Given the description of an element on the screen output the (x, y) to click on. 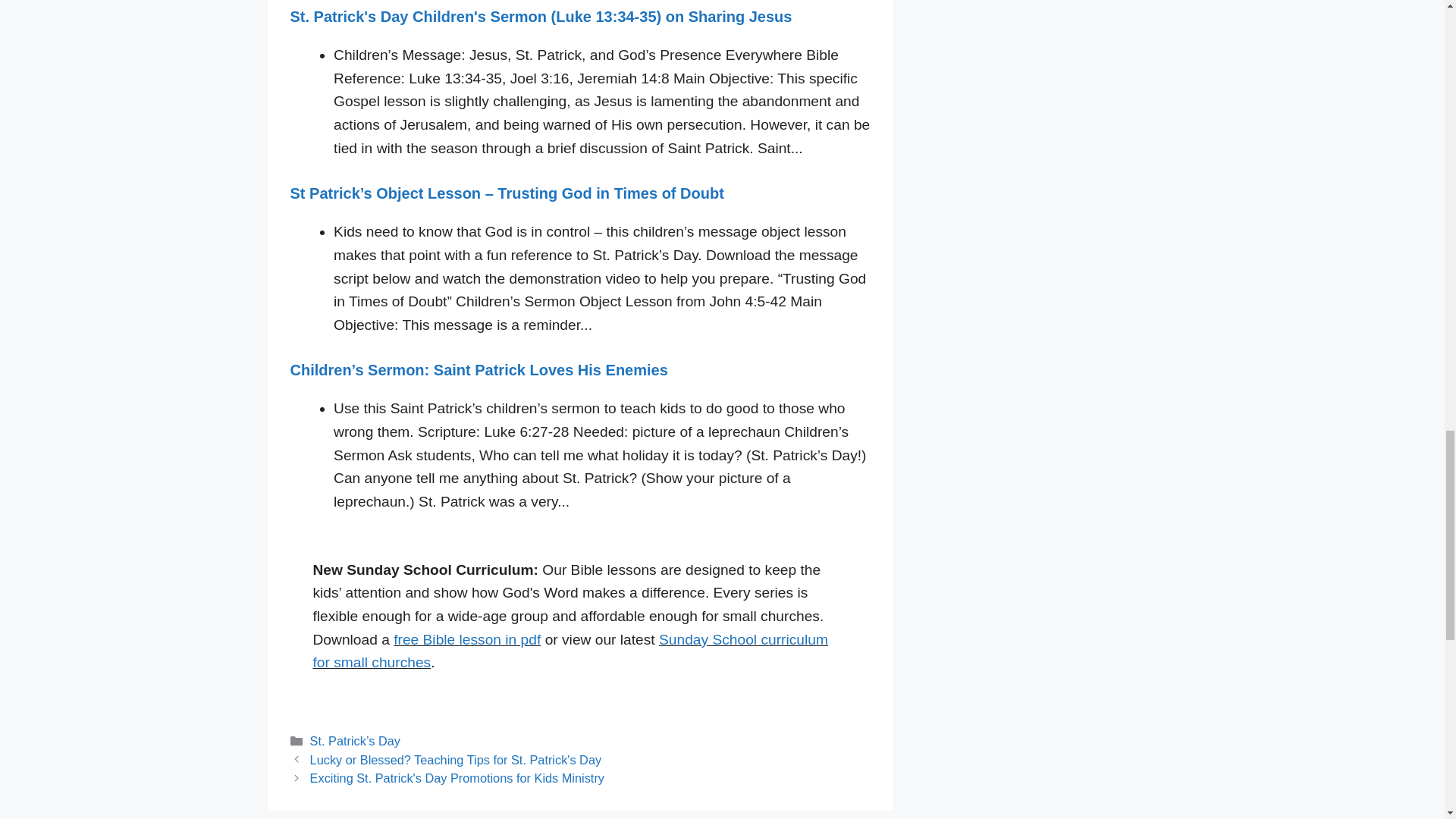
free Bible lesson in pdf (466, 639)
Sunday School curriculum for small churches (570, 650)
Exciting St. Patrick's Day Promotions for Kids Ministry (457, 777)
Lucky or Blessed? Teaching Tips for St. Patrick's Day (456, 759)
